Given the description of an element on the screen output the (x, y) to click on. 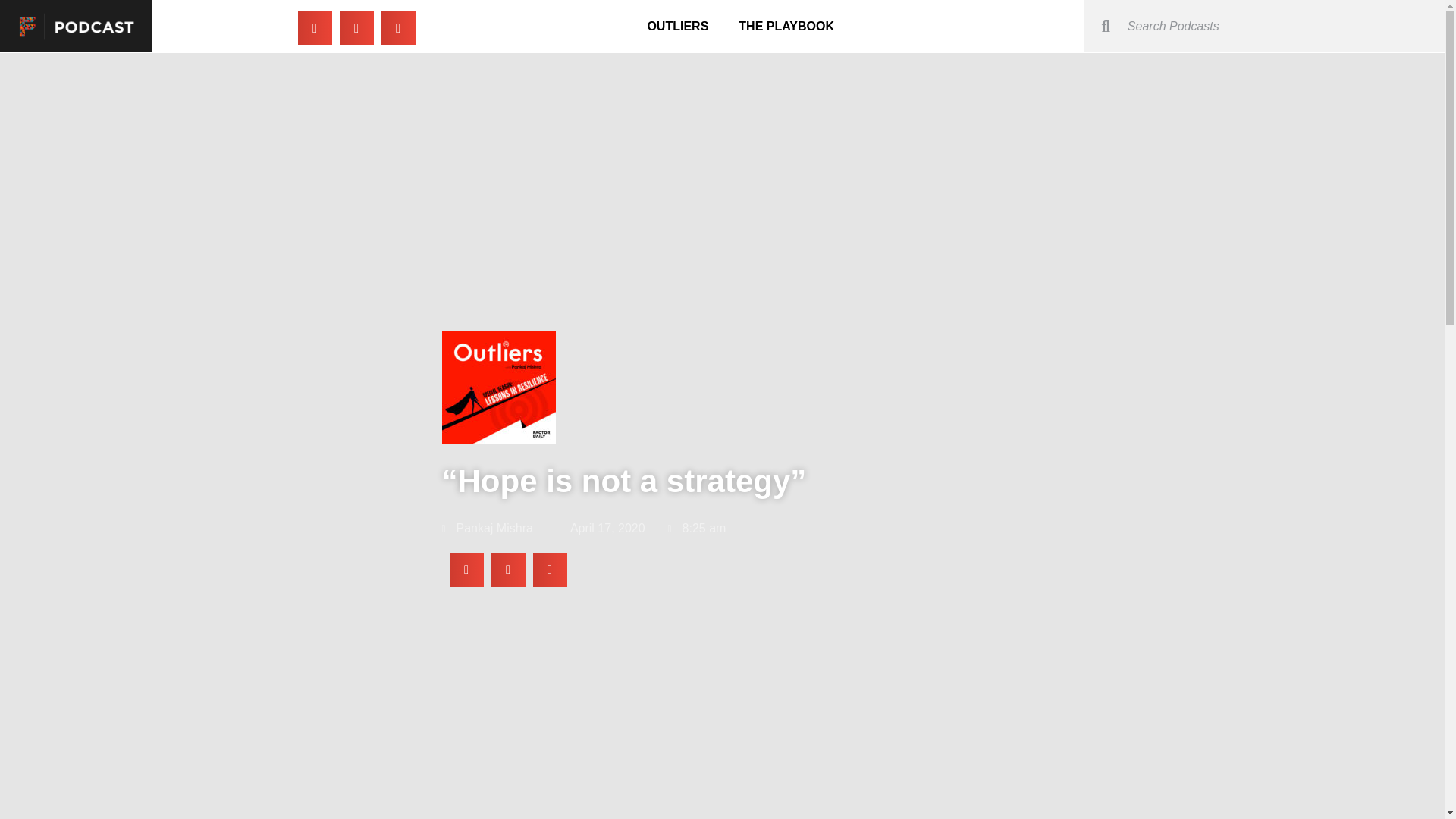
factordaily-podcast-logo (75, 26)
April 17, 2020 (600, 528)
THE PLAYBOOK (785, 25)
OUTLIERS (677, 25)
Pankaj Mishra (486, 528)
